Given the description of an element on the screen output the (x, y) to click on. 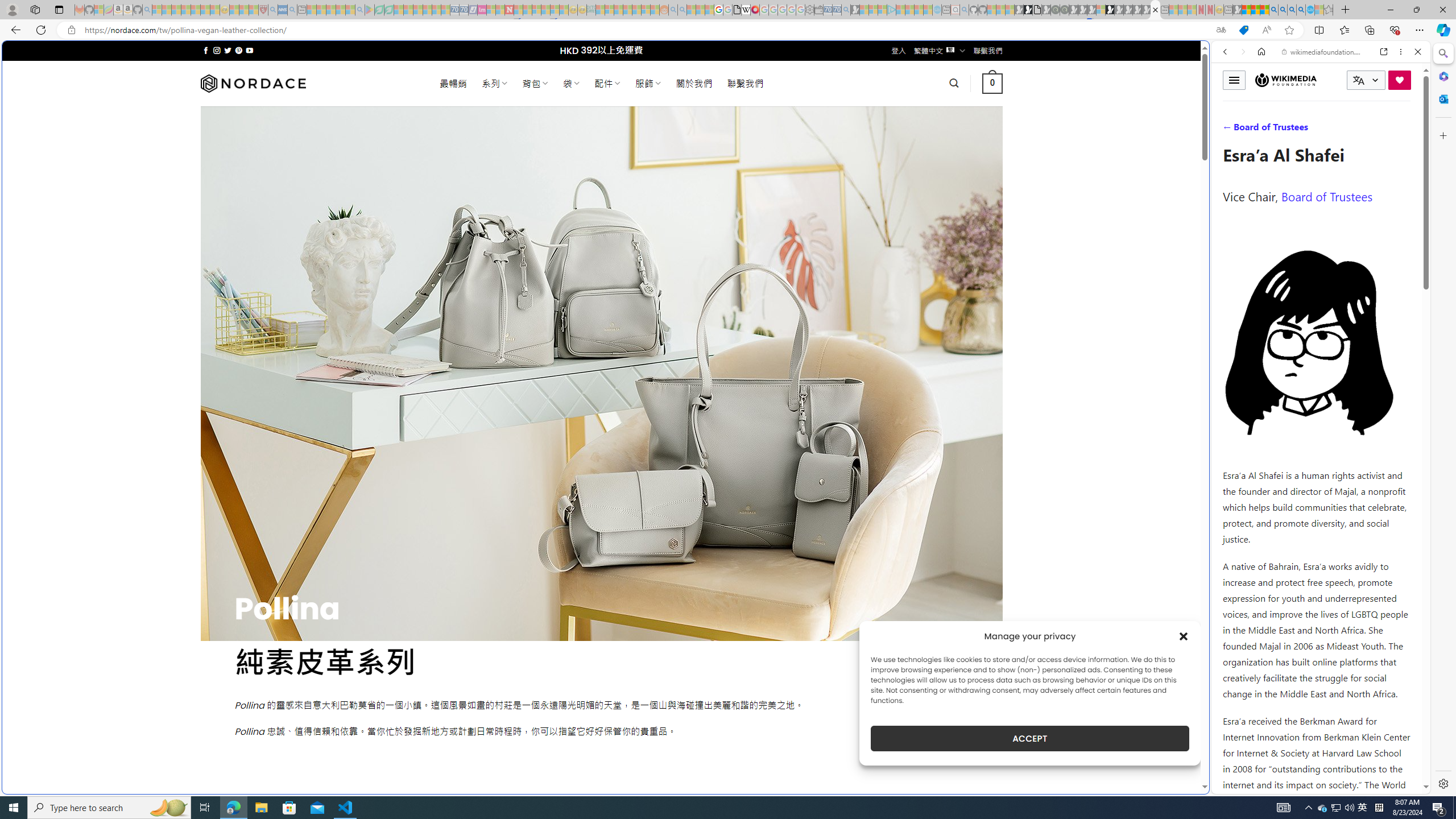
Minimize (1390, 9)
Follow on Facebook (205, 50)
Microsoft Start Gaming - Sleeping (854, 9)
Favorites - Sleeping (1328, 9)
Cheap Hotels - Save70.com - Sleeping (463, 9)
Expert Portfolios - Sleeping (627, 9)
Back (1225, 51)
Jobs - lastminute.com Investor Portal - Sleeping (482, 9)
